Given the description of an element on the screen output the (x, y) to click on. 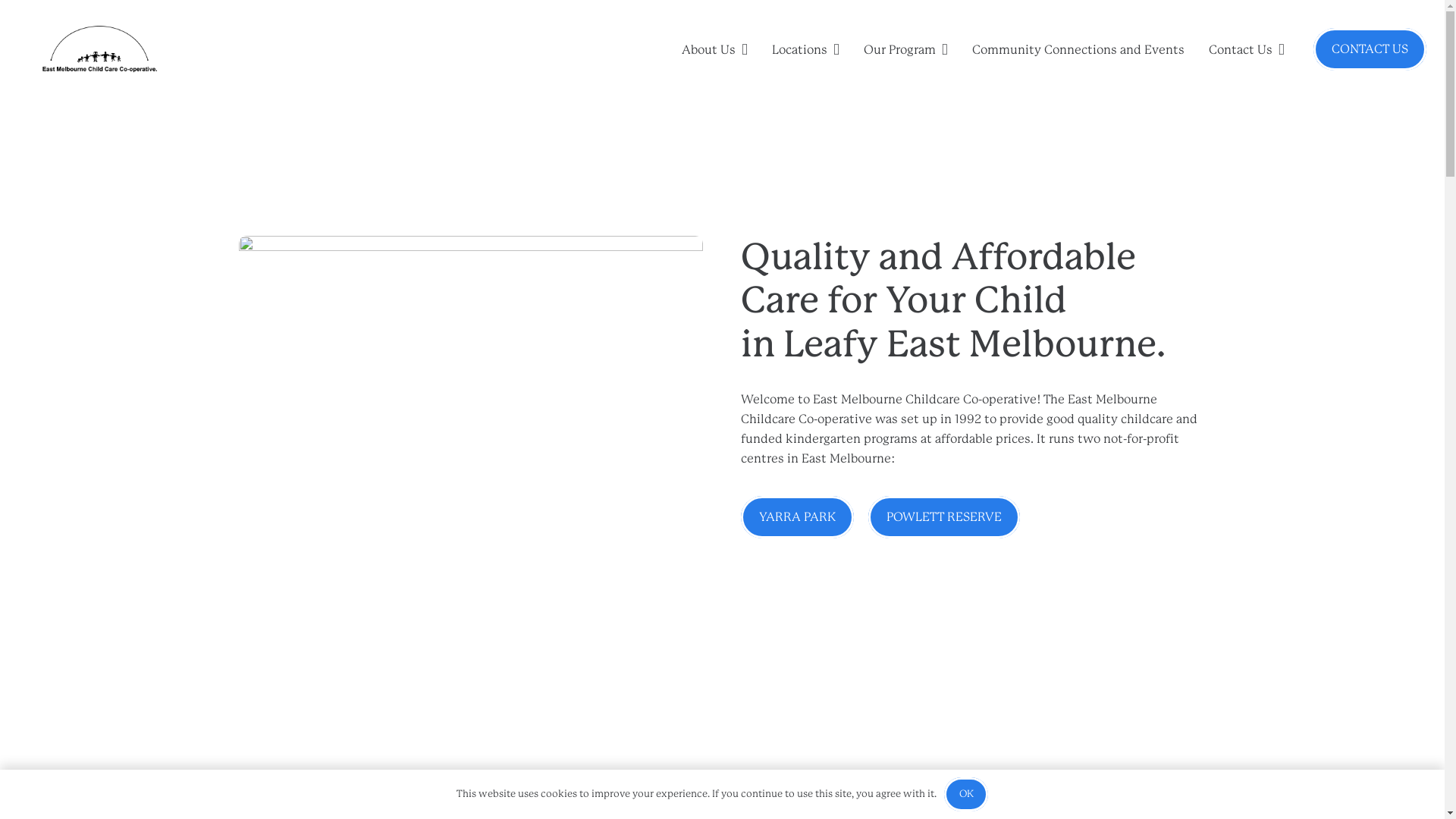
YARRA PARK Element type: text (796, 516)
OK Element type: text (966, 794)
POWLETT RESERVE Element type: text (943, 516)
Community Connections and Events Element type: text (1078, 49)
CONTACT US Element type: text (1369, 49)
About Us Element type: text (714, 49)
Contact Us Element type: text (1246, 49)
Our Program Element type: text (905, 49)
Locations Element type: text (805, 49)
